Given the description of an element on the screen output the (x, y) to click on. 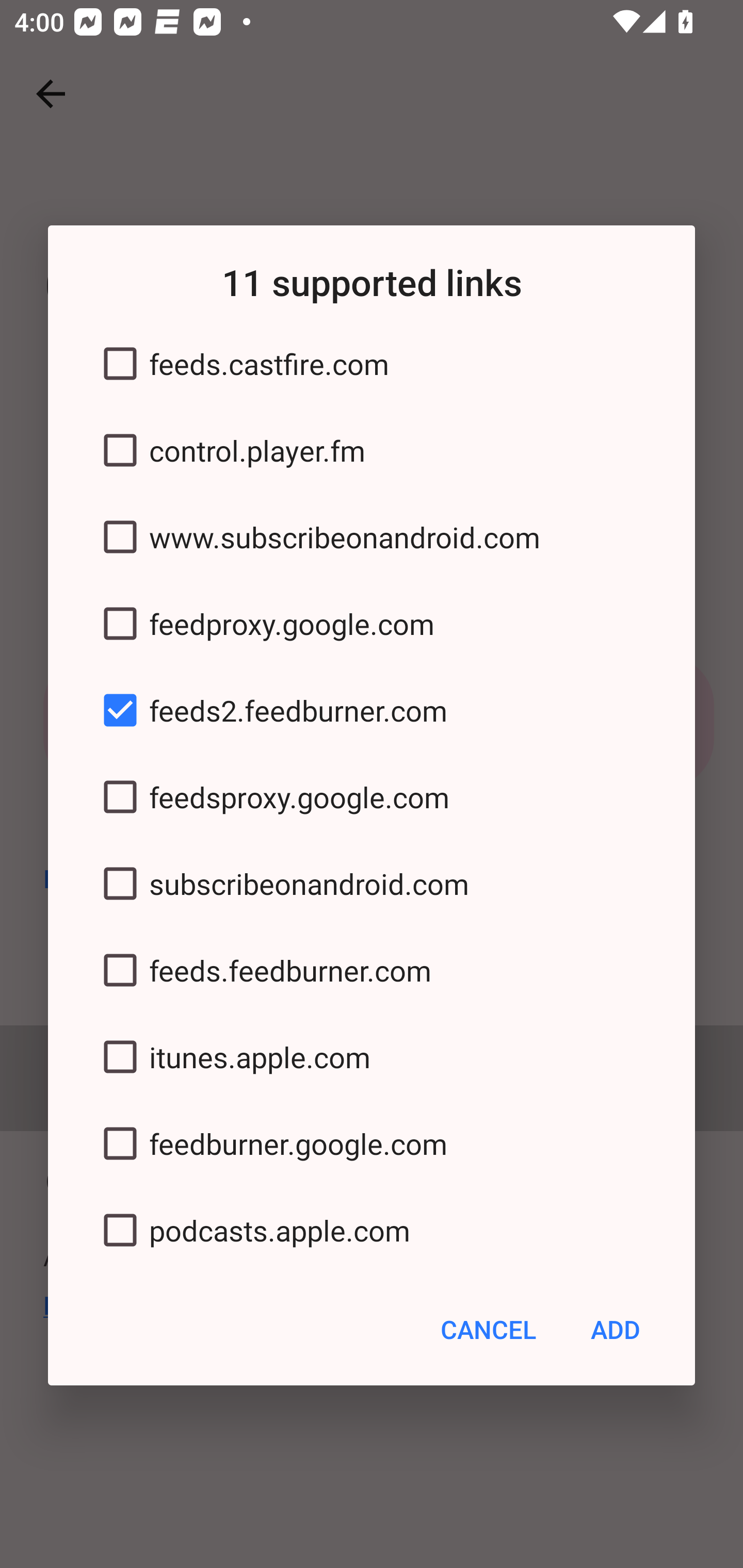
feeds.castfire.com (371, 363)
control.player.fm (371, 450)
www.subscribeonandroid.com (371, 536)
feedproxy.google.com (371, 623)
feeds2.feedburner.com (371, 710)
feedsproxy.google.com (371, 797)
subscribeonandroid.com (371, 883)
feeds.feedburner.com (371, 969)
itunes.apple.com (371, 1056)
feedburner.google.com (371, 1143)
podcasts.apple.com (371, 1229)
CANCEL (488, 1329)
ADD (615, 1329)
